Given the description of an element on the screen output the (x, y) to click on. 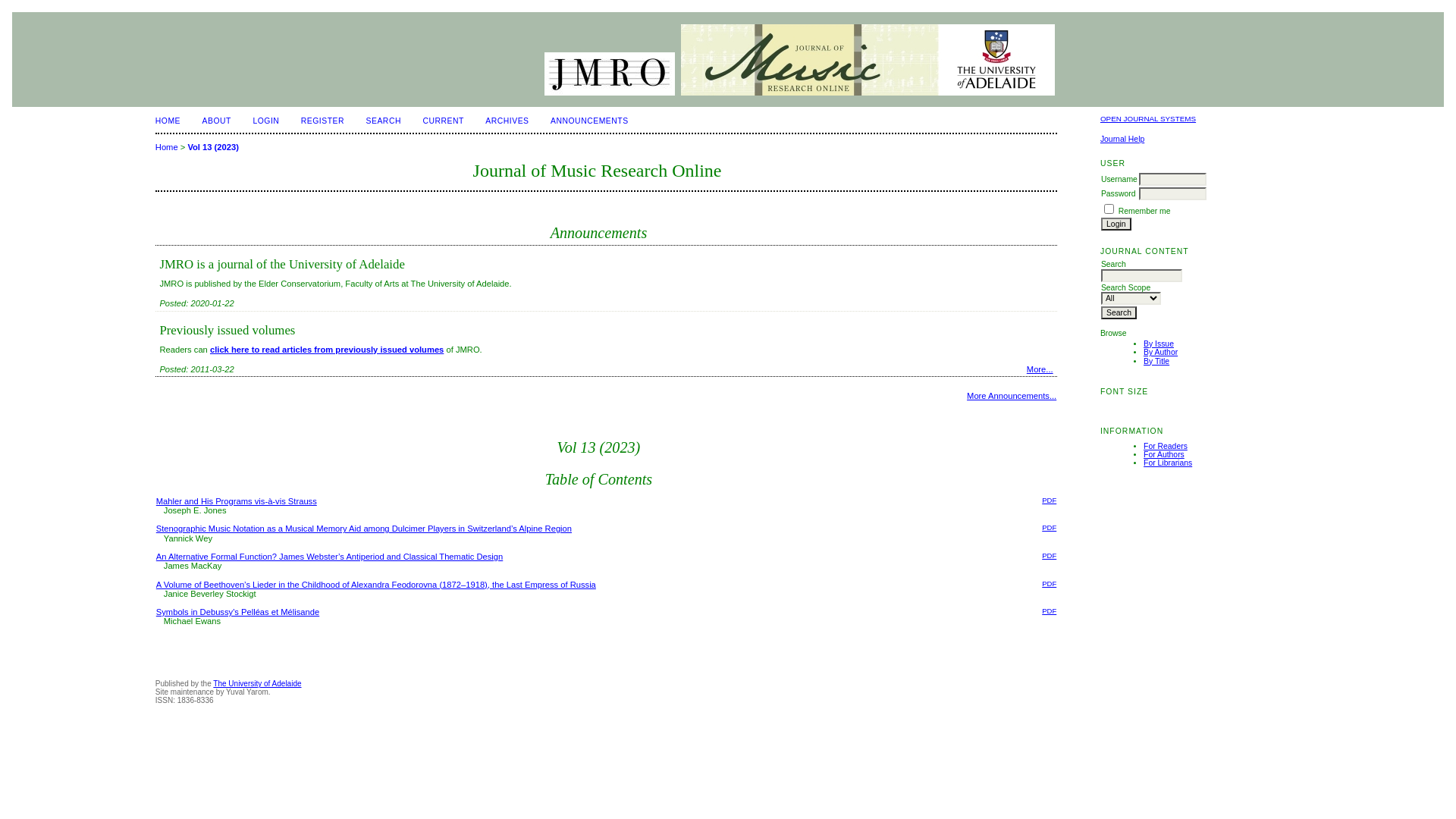
PDF Element type: text (1048, 583)
PDF Element type: text (1048, 555)
ABOUT Element type: text (216, 120)
Login Element type: text (1116, 223)
Home Element type: text (166, 146)
For Readers Element type: text (1165, 446)
CURRENT Element type: text (442, 120)
By Issue Element type: text (1158, 343)
OPEN JOURNAL SYSTEMS Element type: text (1147, 118)
PDF Element type: text (1048, 527)
By Author Element type: text (1160, 352)
Vol 13 (2023) Element type: text (212, 146)
ANNOUNCEMENTS Element type: text (589, 120)
Search Element type: text (1118, 312)
Journal Help Element type: text (1122, 138)
More Announcements... Element type: text (1011, 395)
By Title Element type: text (1156, 360)
REGISTER Element type: text (322, 120)
PDF Element type: text (1048, 499)
ARCHIVES Element type: text (506, 120)
click here to read articles from previously issued volumes Element type: text (326, 349)
For Librarians Element type: text (1167, 462)
PDF Element type: text (1048, 610)
More... Element type: text (1039, 368)
The University of Adelaide Element type: text (257, 683)
LOGIN Element type: text (265, 120)
For Authors Element type: text (1163, 454)
SEARCH Element type: text (382, 120)
HOME Element type: text (167, 120)
